Given the description of an element on the screen output the (x, y) to click on. 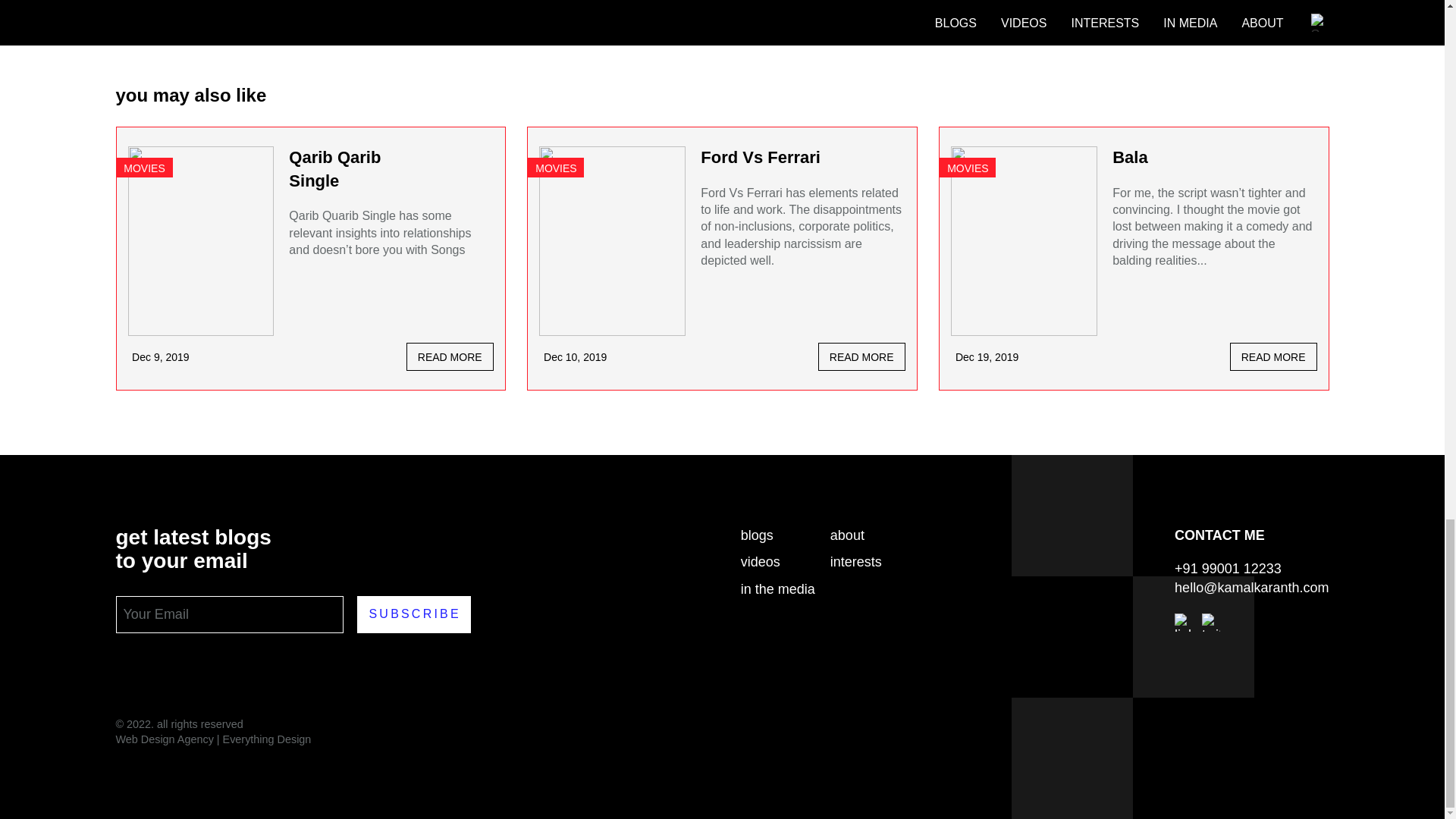
about (866, 535)
SUBSCRIBE (413, 614)
videos (778, 561)
blogs (778, 535)
interests (866, 561)
in the media (778, 588)
SUBSCRIBE (413, 614)
